Given the description of an element on the screen output the (x, y) to click on. 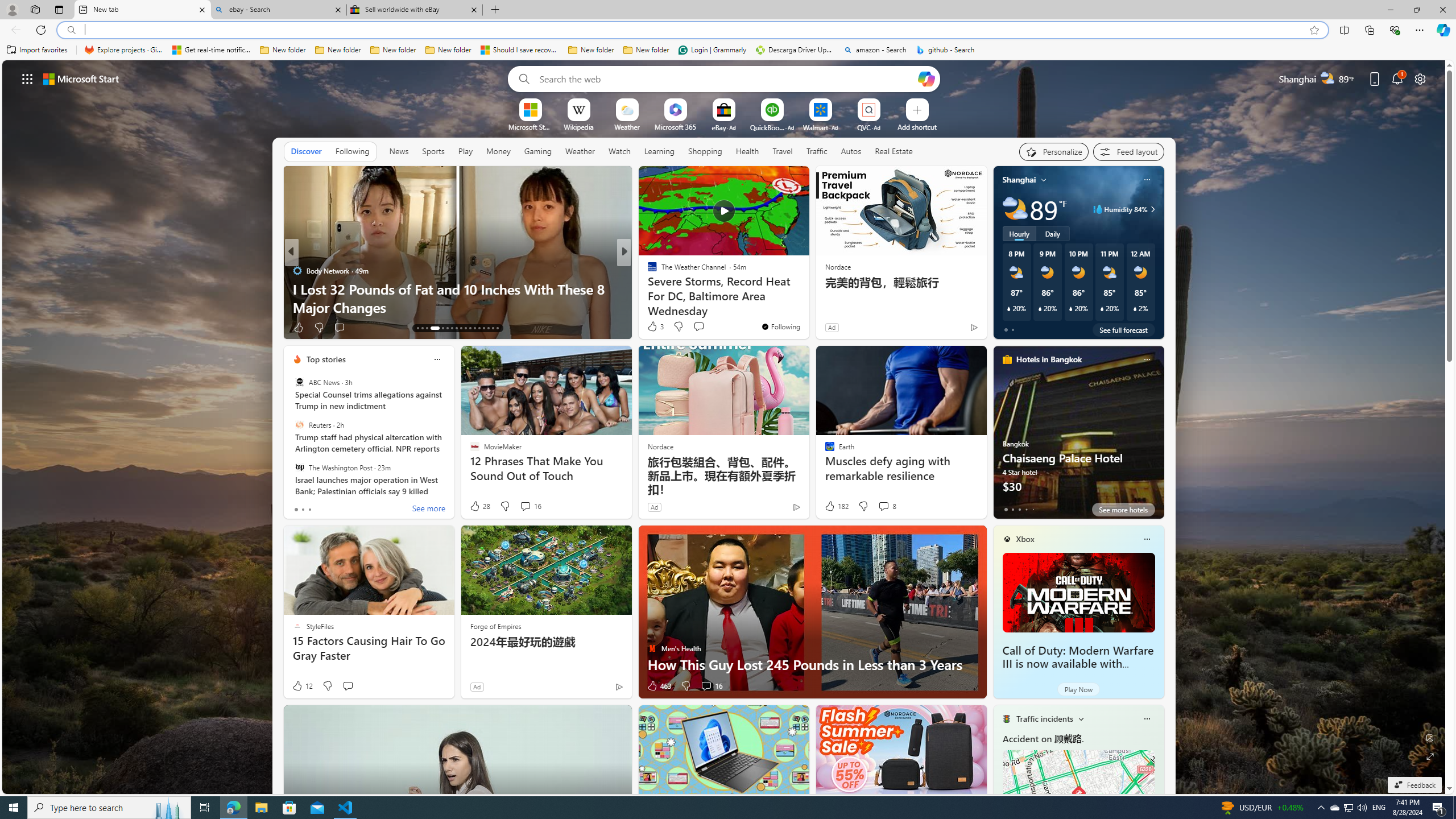
Descarga Driver Updater (794, 49)
Shopping (705, 151)
Sports (432, 151)
Real Estate (893, 151)
TheStreet (647, 288)
Login | Grammarly (712, 49)
AutomationID: tab-15 (426, 328)
7 Like (651, 327)
Health (746, 151)
Real Estate (893, 151)
3 Like (655, 326)
View comments 96 Comment (352, 327)
